Given the description of an element on the screen output the (x, y) to click on. 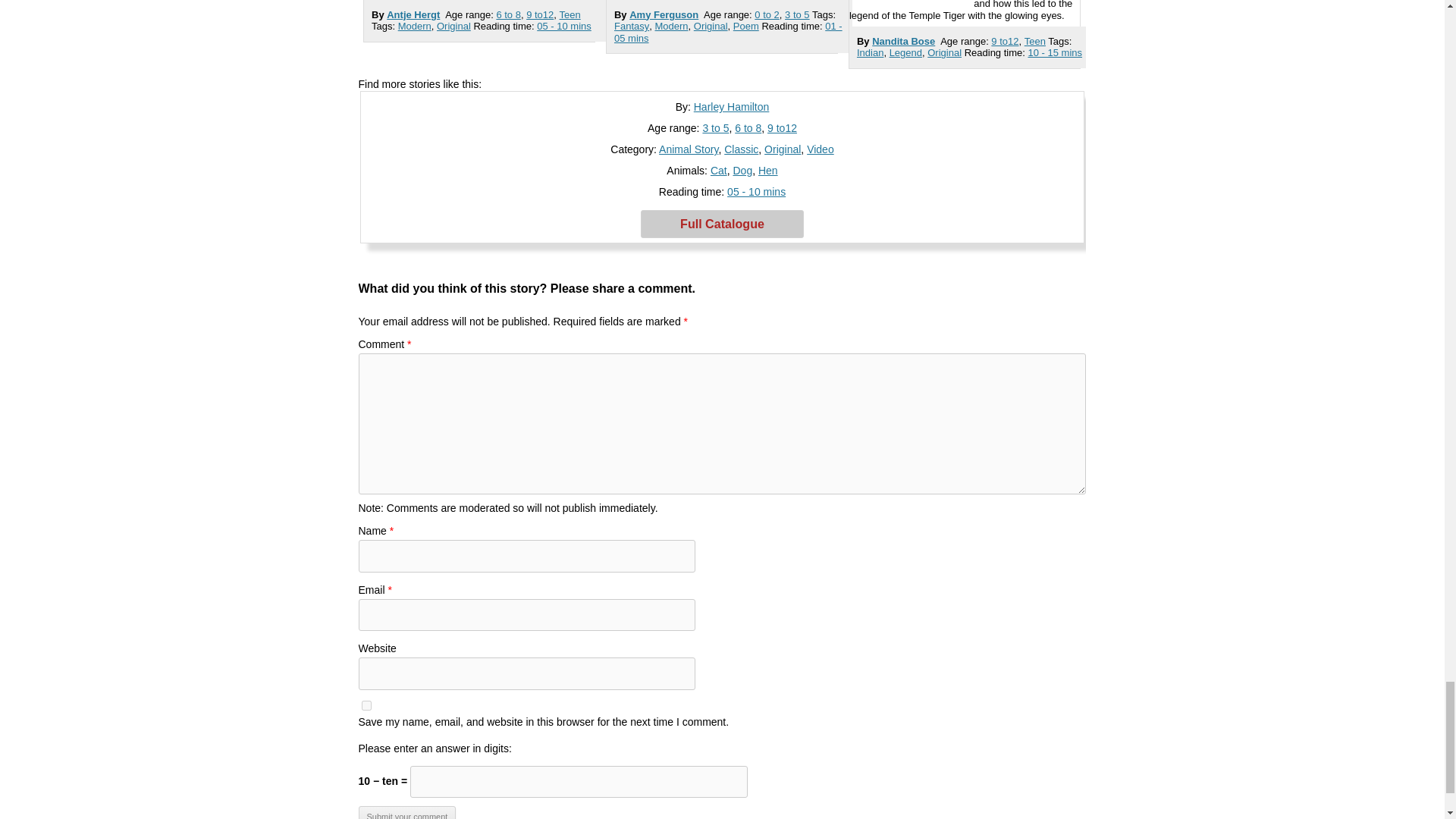
Submit your comment (406, 812)
yes (366, 705)
